Given the description of an element on the screen output the (x, y) to click on. 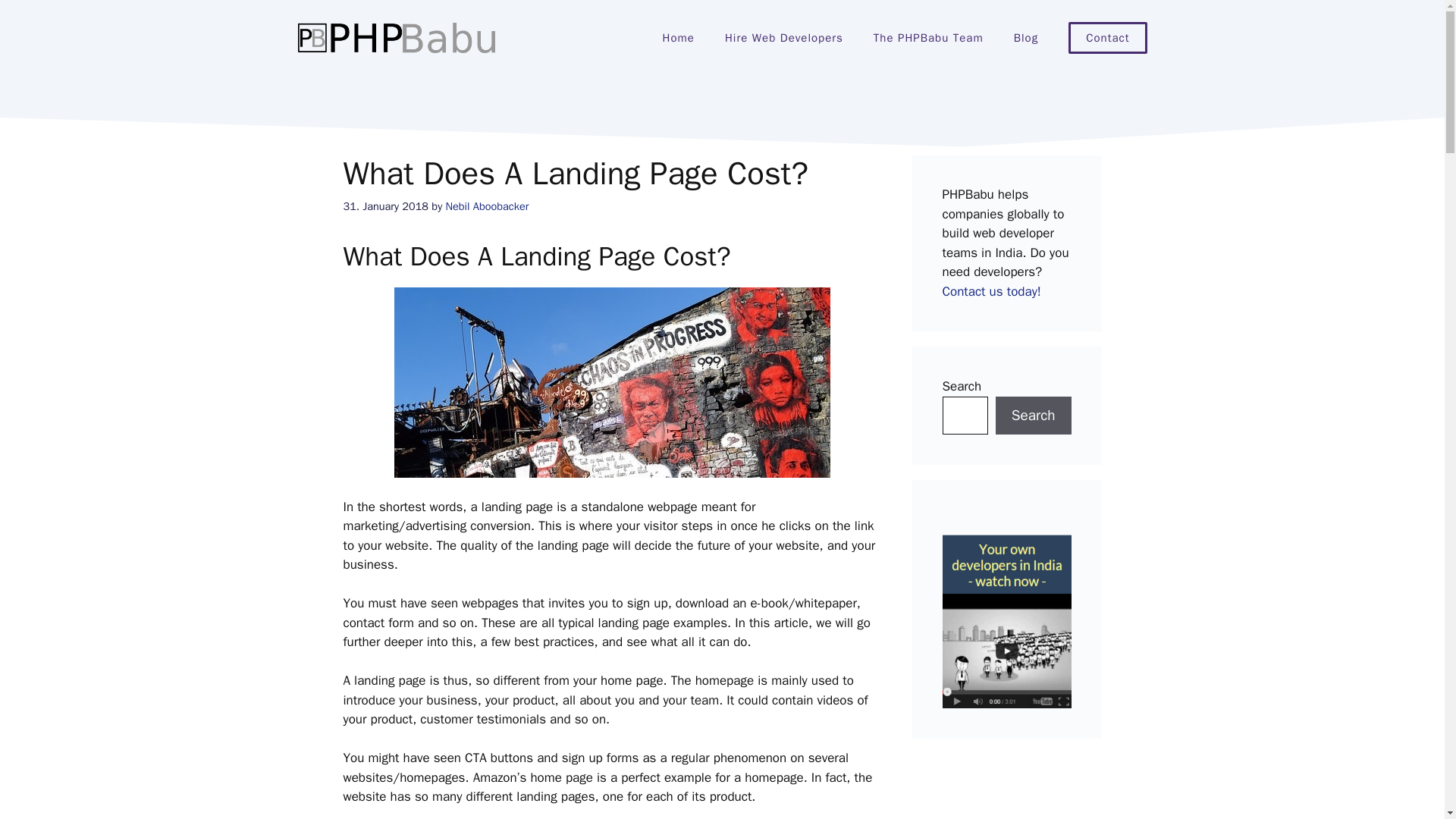
Nebil Aboobacker (487, 205)
Contact (1107, 38)
Contact us today! (991, 291)
The PHPBabu Team (928, 37)
View all posts by Nebil Aboobacker (487, 205)
Blog (1025, 37)
Home (678, 37)
Search (1033, 414)
Hire Web Developers (784, 37)
